Given the description of an element on the screen output the (x, y) to click on. 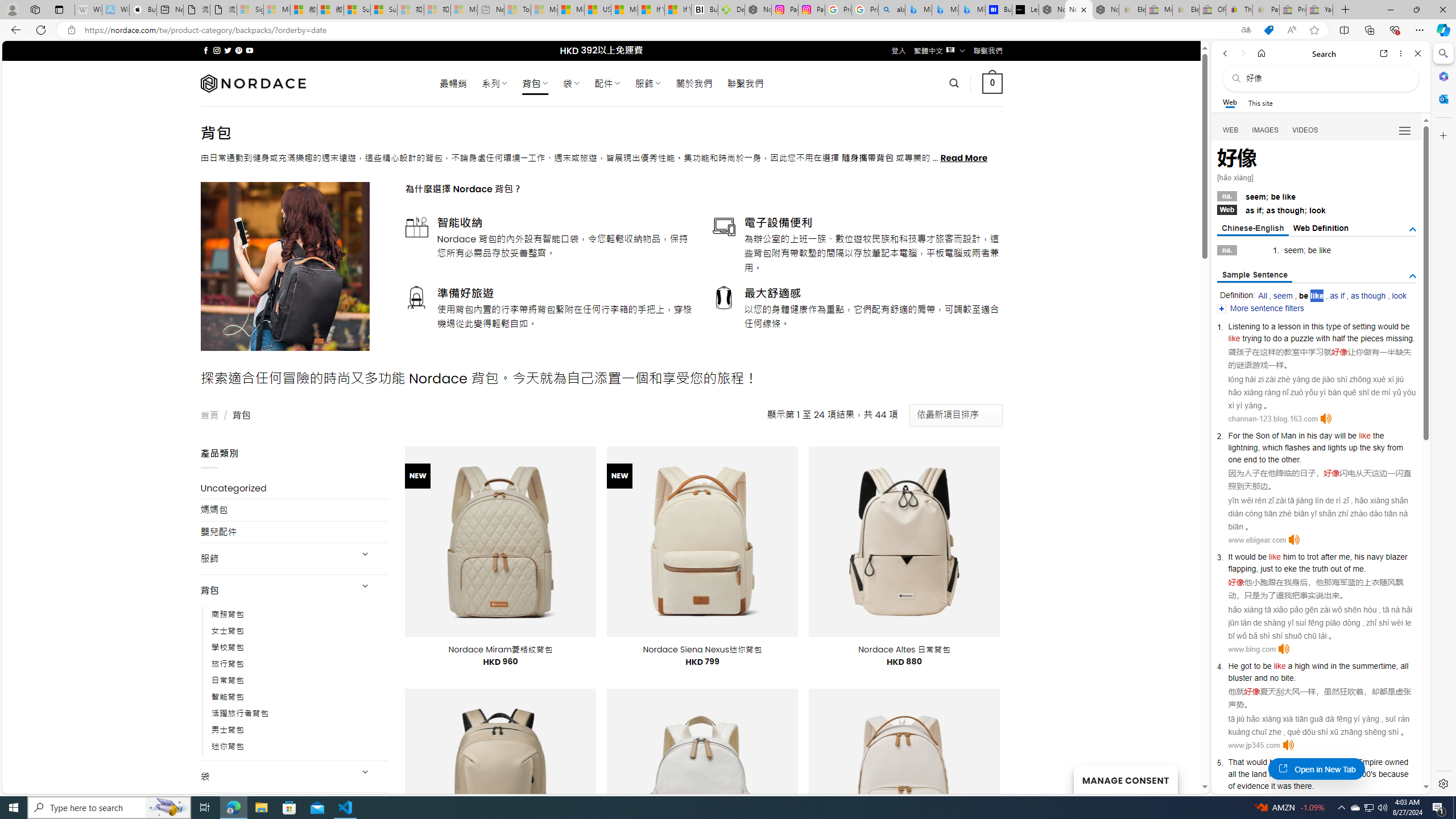
Click to listen (1288, 745)
US Heat Deaths Soared To Record High Last Year (597, 9)
He (1233, 665)
Follow on Pinterest (237, 50)
from (1394, 447)
